Given the description of an element on the screen output the (x, y) to click on. 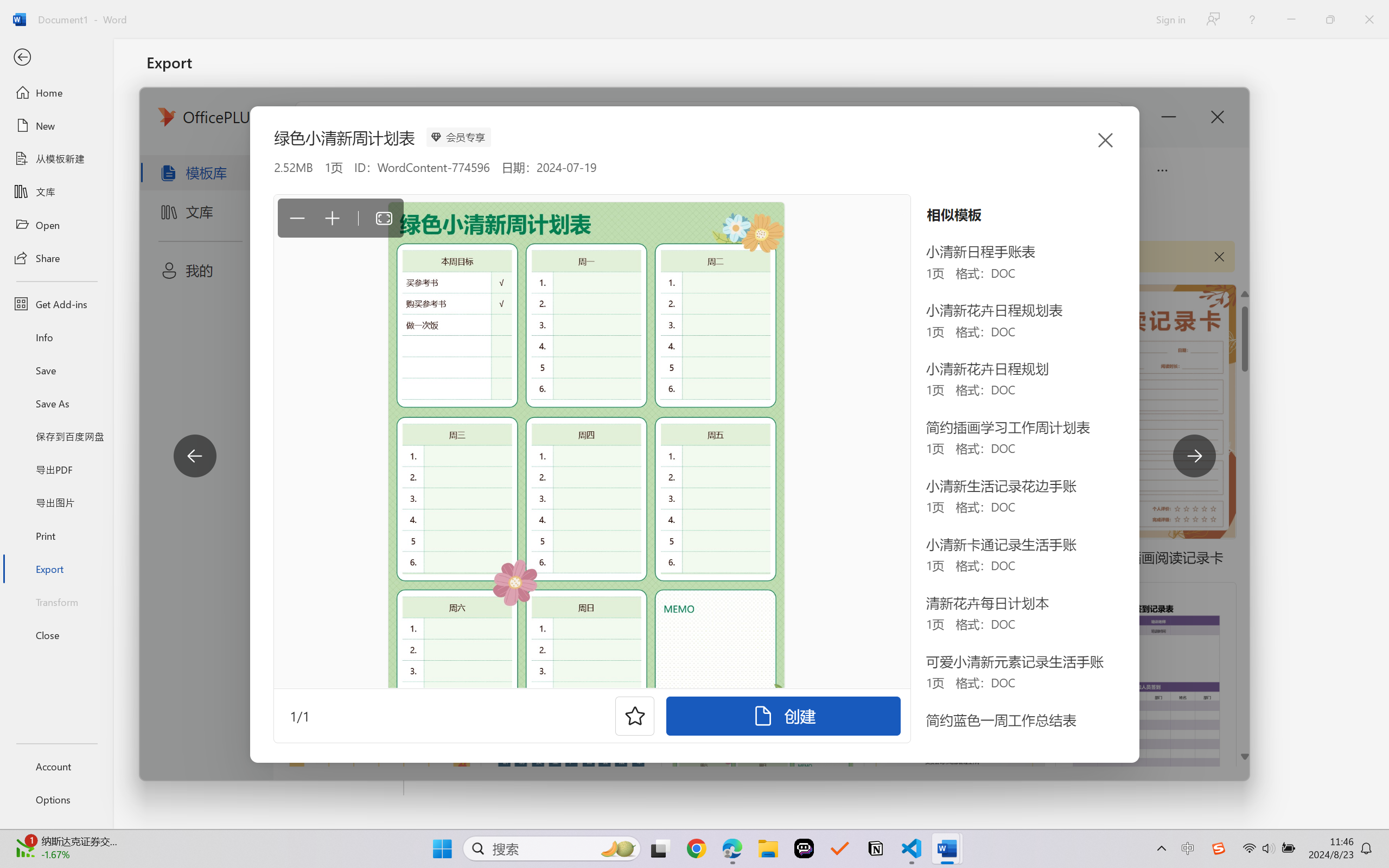
Print (56, 535)
